Given the description of an element on the screen output the (x, y) to click on. 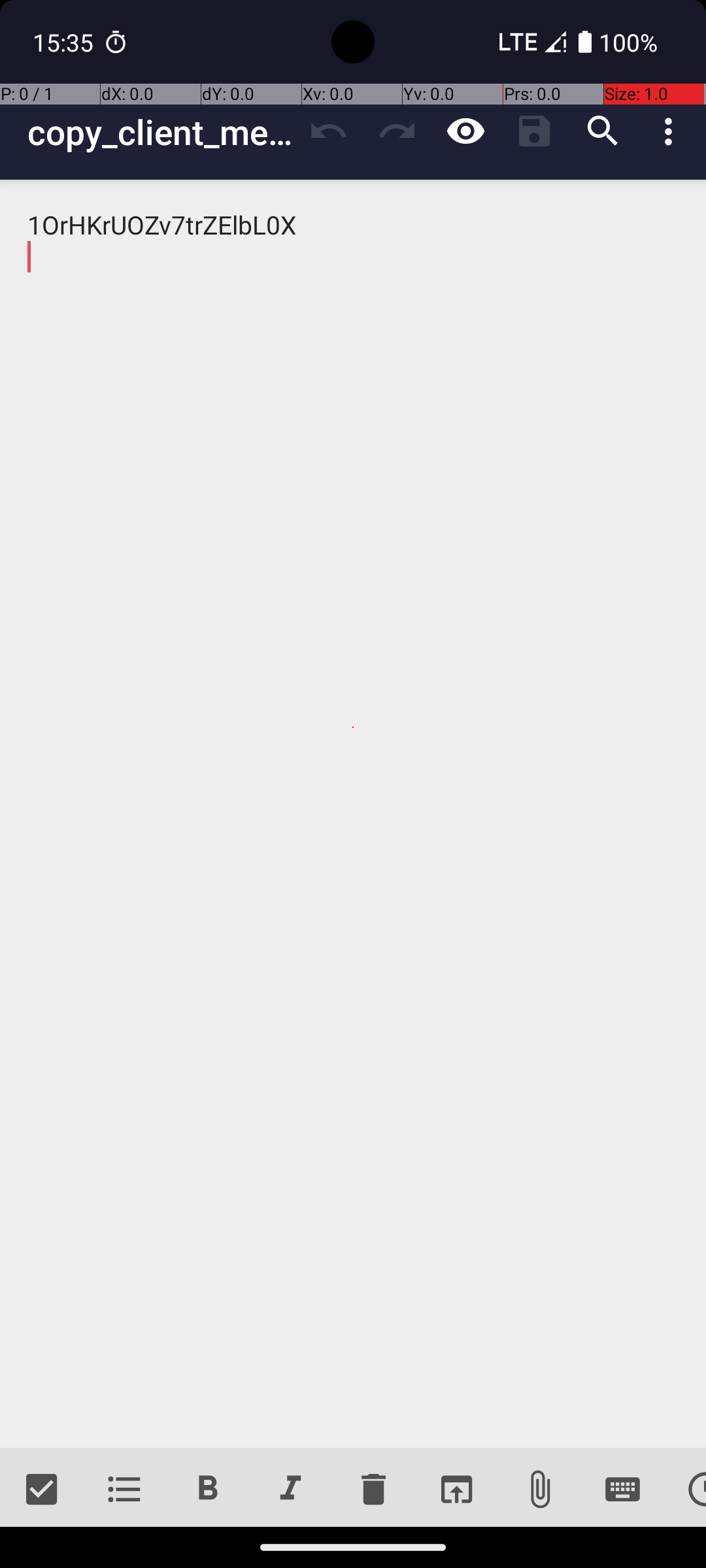
copy_client_meetings_schedule Element type: android.widget.TextView (160, 131)
1OrHKrUOZv7trZElbL0X
 Element type: android.widget.EditText (353, 813)
